Given the description of an element on the screen output the (x, y) to click on. 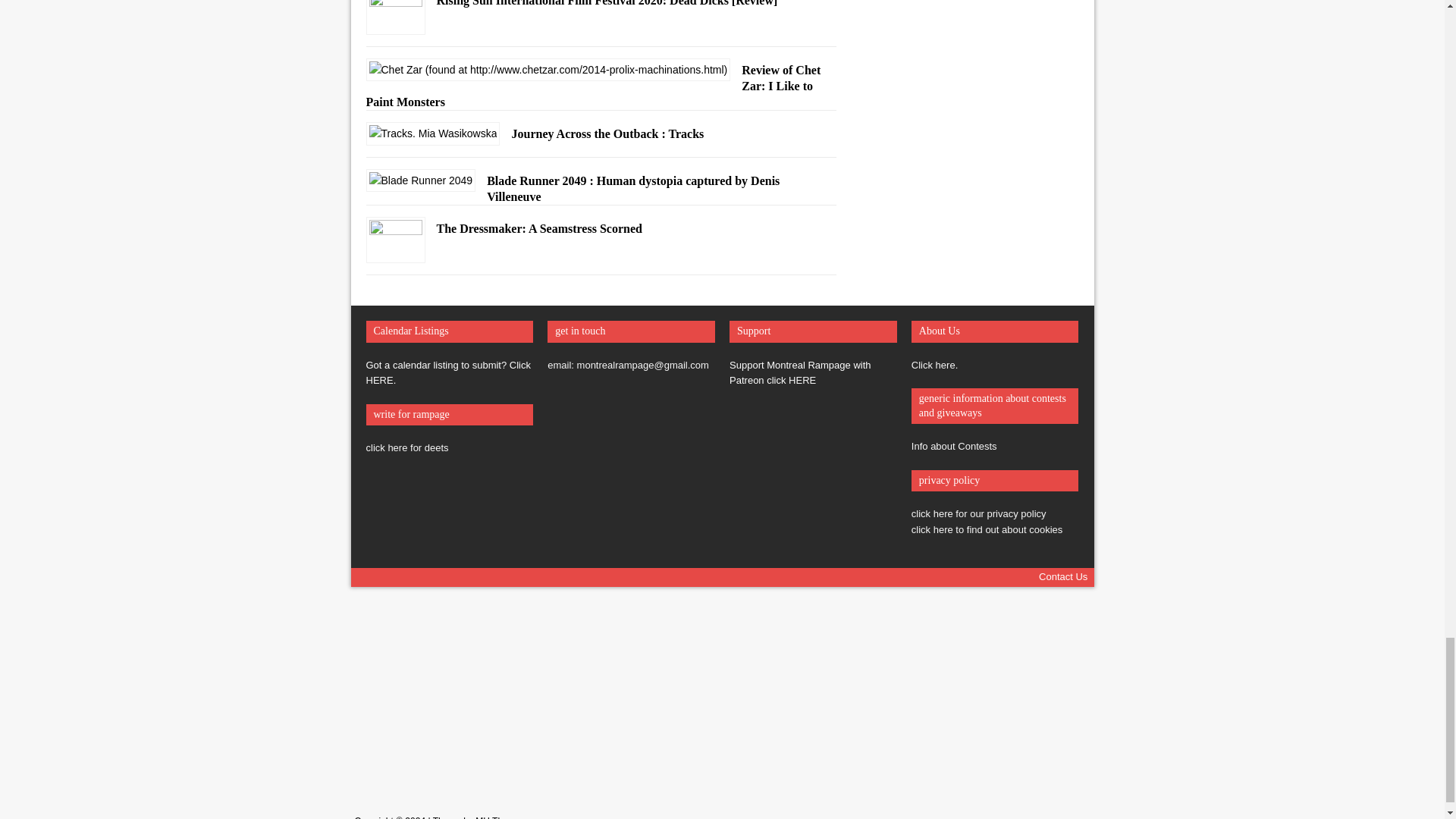
The Dressmaker: A Seamstress Scorned (395, 251)
Journey Across the Outback : Tracks (432, 133)
Review of Chet Zar: I Like to Paint Monsters (547, 69)
